Given the description of an element on the screen output the (x, y) to click on. 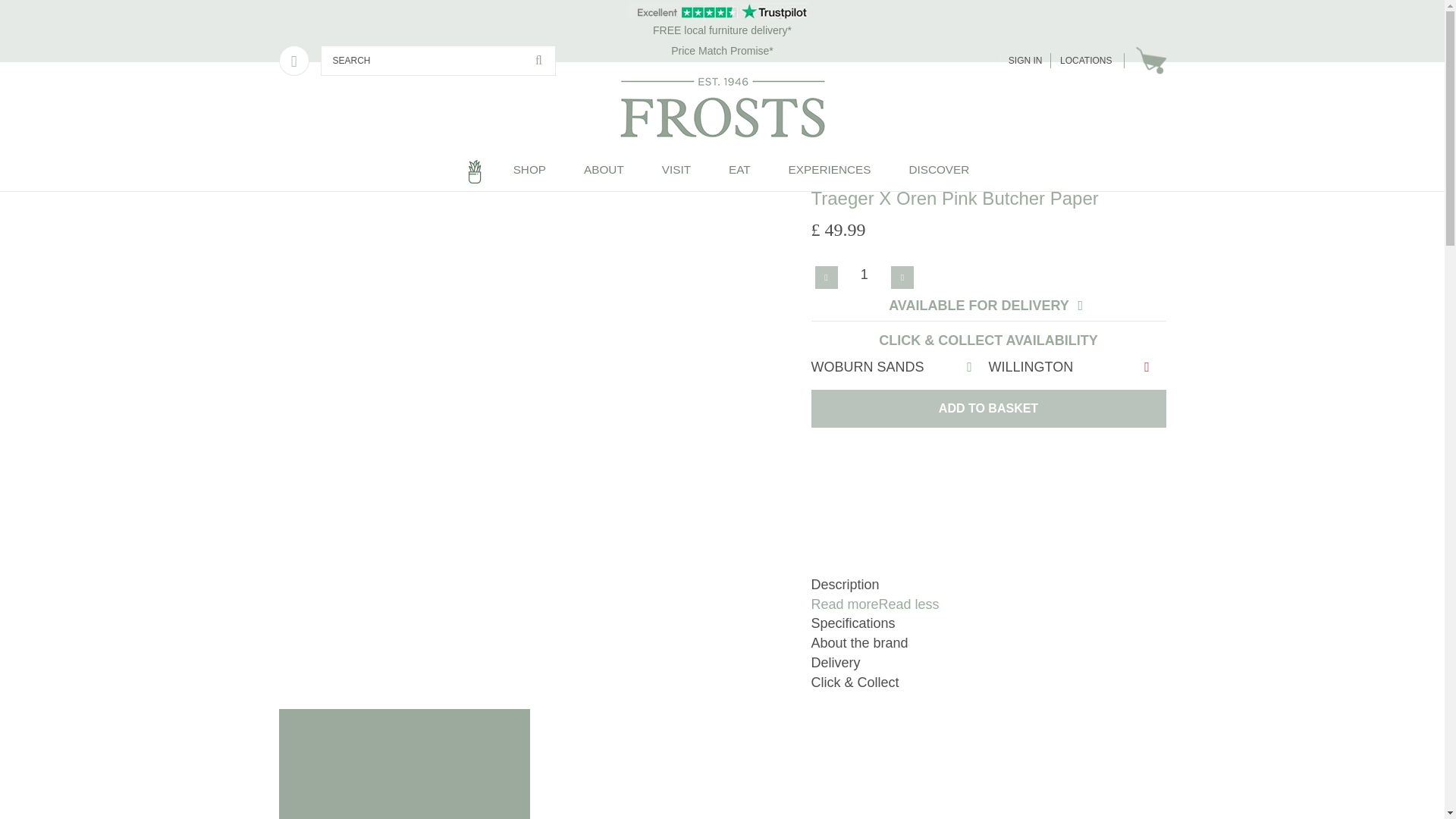
Search (538, 60)
Barbecue Accessories (529, 160)
PRODUCTS (332, 160)
SHOP (529, 171)
1 (863, 273)
SHOP (529, 171)
Go to the shopping trolley (1150, 60)
Phone (293, 60)
Traeger X Oren Pink Butcher Paper (756, 160)
Add to basket (988, 408)
